Given the description of an element on the screen output the (x, y) to click on. 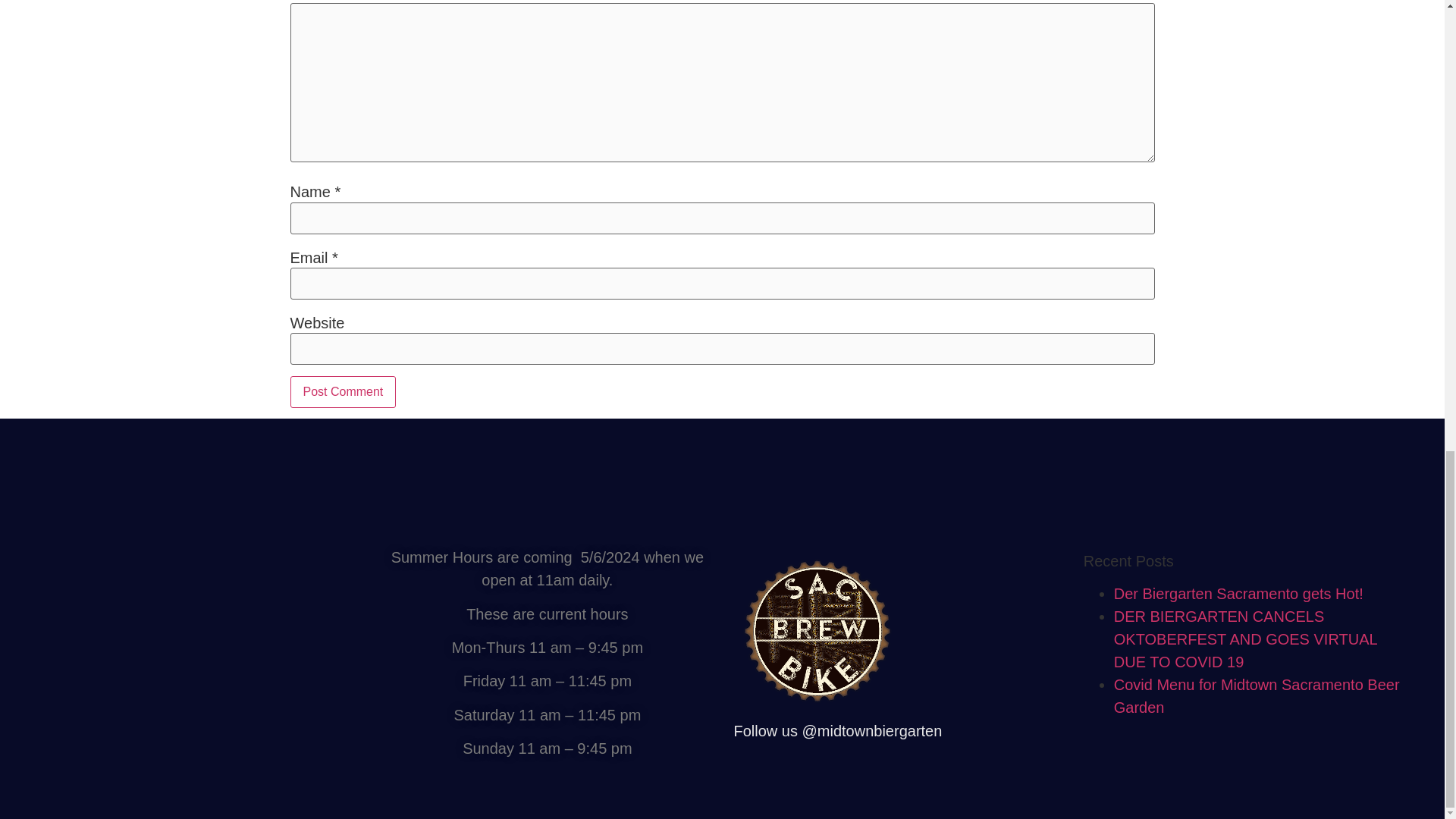
Post Comment (342, 391)
2332 k st, sacramento, ca 95816, usa (197, 659)
Der Biergarten Sacramento gets Hot! (1237, 593)
Covid Menu for Midtown Sacramento Beer Garden (1256, 695)
Post Comment (342, 391)
